Given the description of an element on the screen output the (x, y) to click on. 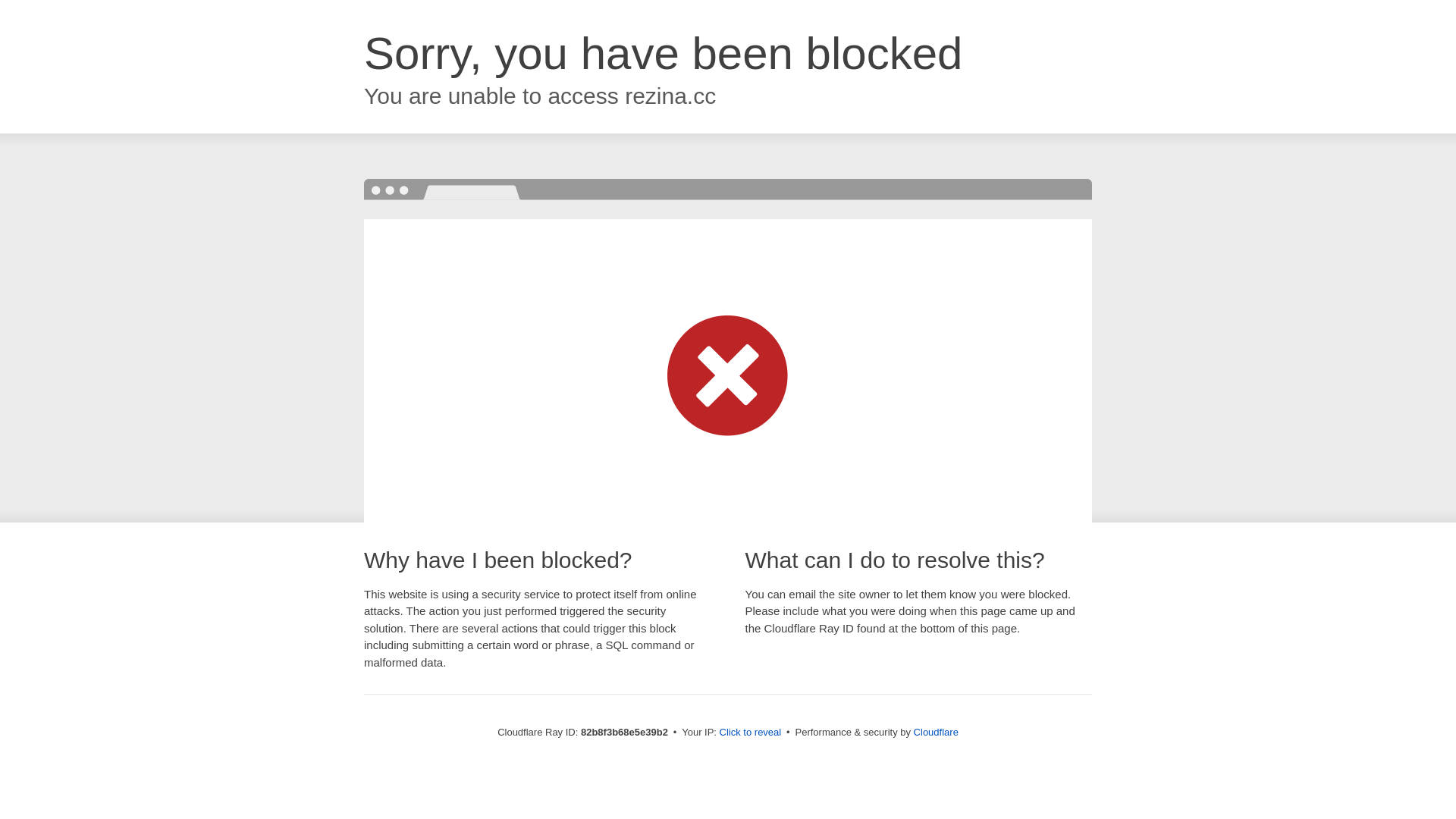
Cloudflare Element type: text (935, 731)
Click to reveal Element type: text (750, 732)
